Given the description of an element on the screen output the (x, y) to click on. 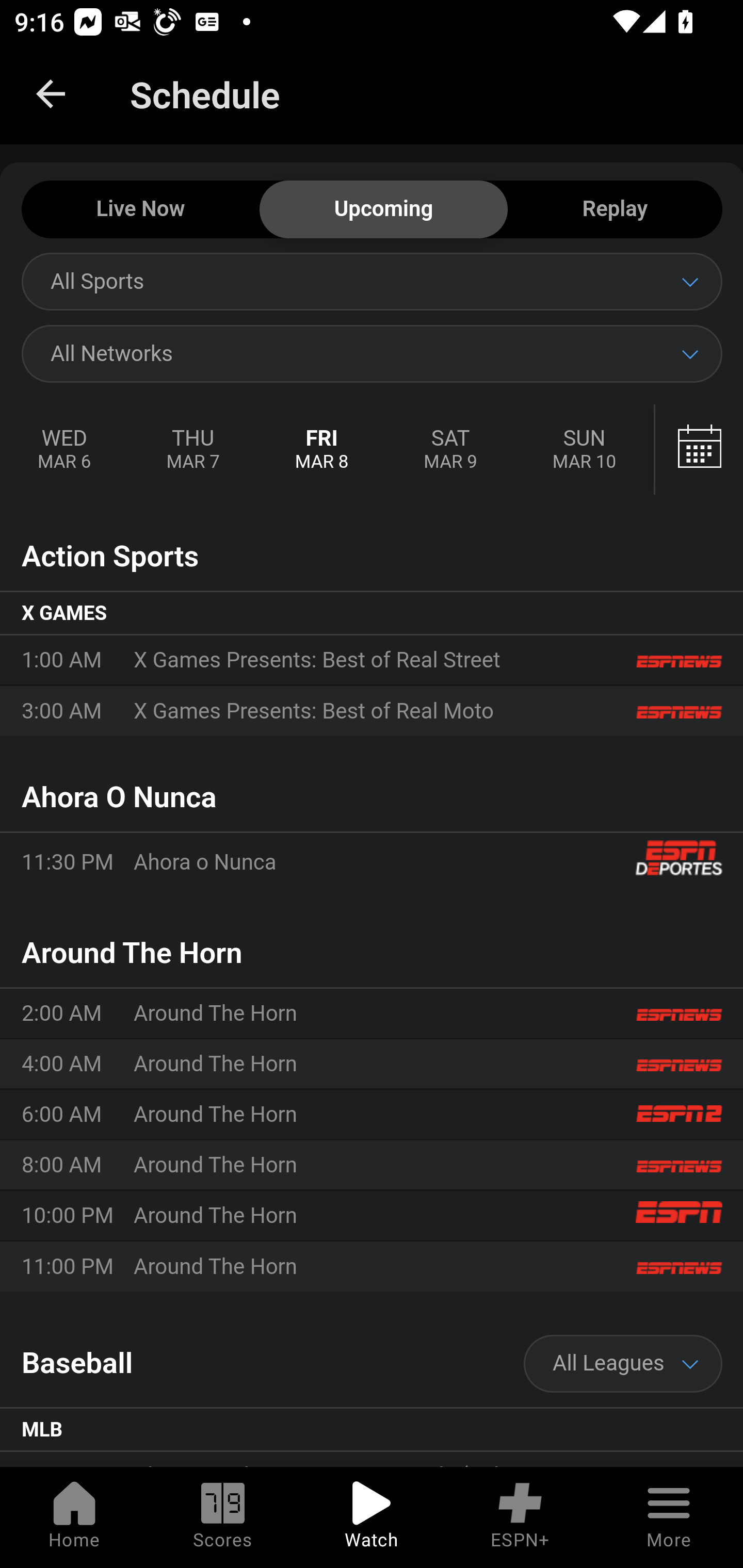
back.button (50, 93)
Live Now (140, 209)
Upcoming (382, 209)
Replay (614, 209)
All Sports (371, 281)
All Networks (371, 353)
Calendar (698, 449)
WED MAR 6 (65, 449)
THU MAR 7 (192, 449)
FRI MAR 8 (321, 449)
SAT MAR 9 (450, 449)
SUN MAR 10 (583, 449)
All Leagues (622, 1363)
Home (74, 1517)
Scores (222, 1517)
ESPN+ (519, 1517)
More (668, 1517)
